Given the description of an element on the screen output the (x, y) to click on. 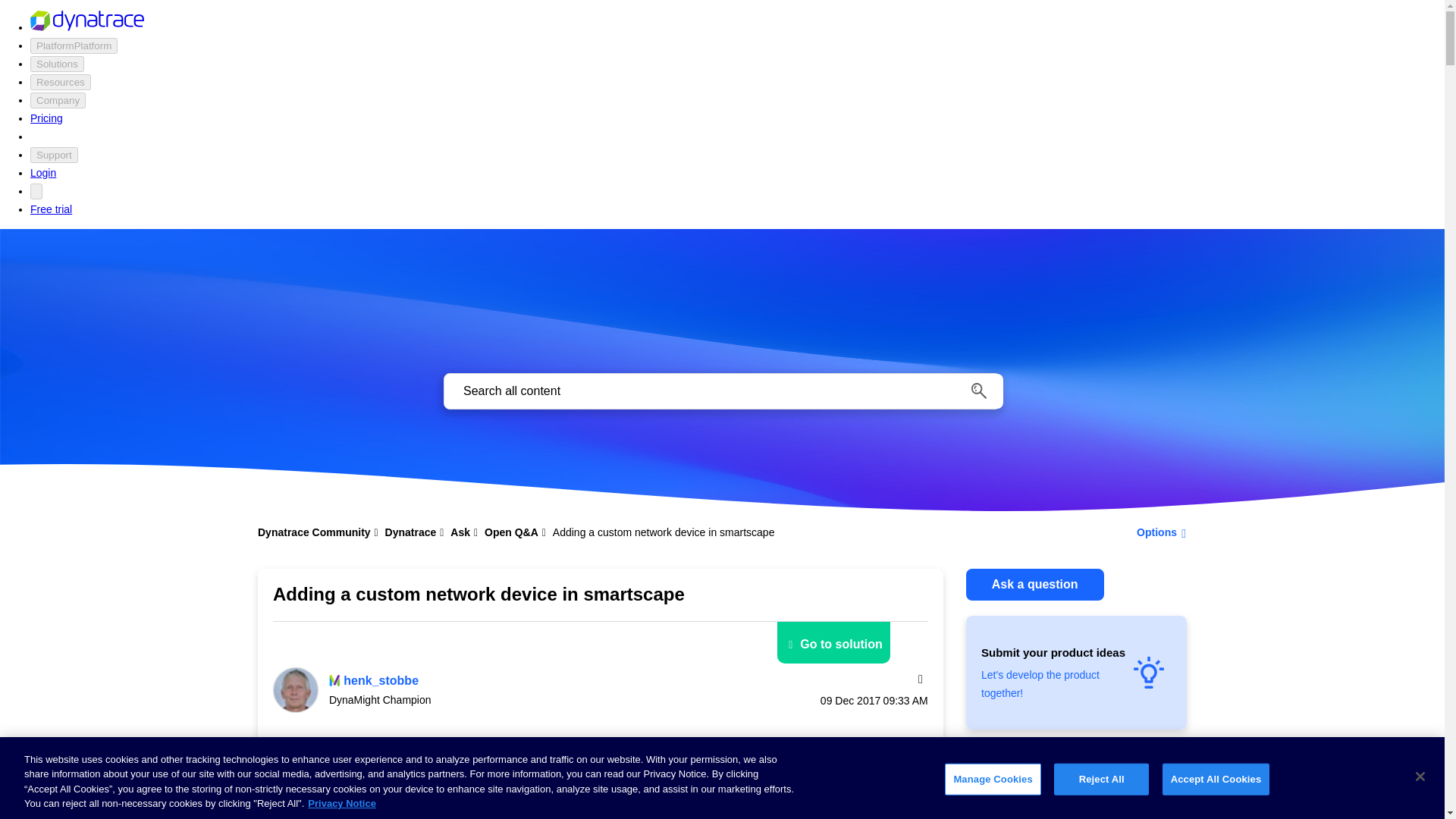
Community (732, 81)
Start with Dynatrace (646, 105)
Developer (647, 81)
DQL (421, 105)
Developer Blog (641, 105)
Real User Monitoring (460, 105)
Search (979, 390)
Community news (726, 105)
Dynatrace tips (631, 105)
Videos (614, 105)
Hall of fame (801, 105)
DynaMights (819, 81)
Upgrade to SaaS (638, 105)
ASK (421, 108)
Custom Solutions Spotlight (827, 114)
